Given the description of an element on the screen output the (x, y) to click on. 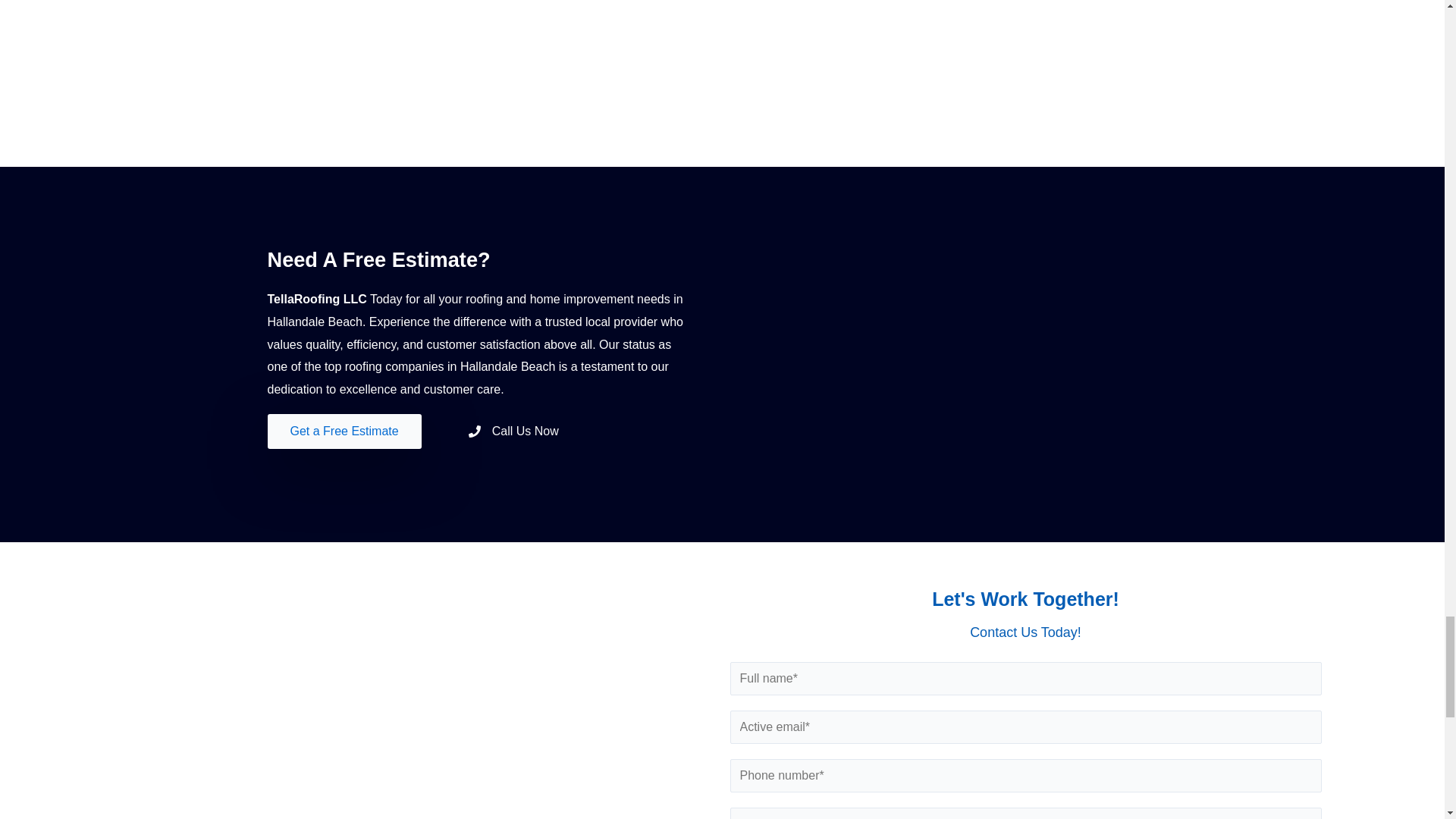
Tella Roofing LLC, Miami, FL, USA (418, 726)
